Given the description of an element on the screen output the (x, y) to click on. 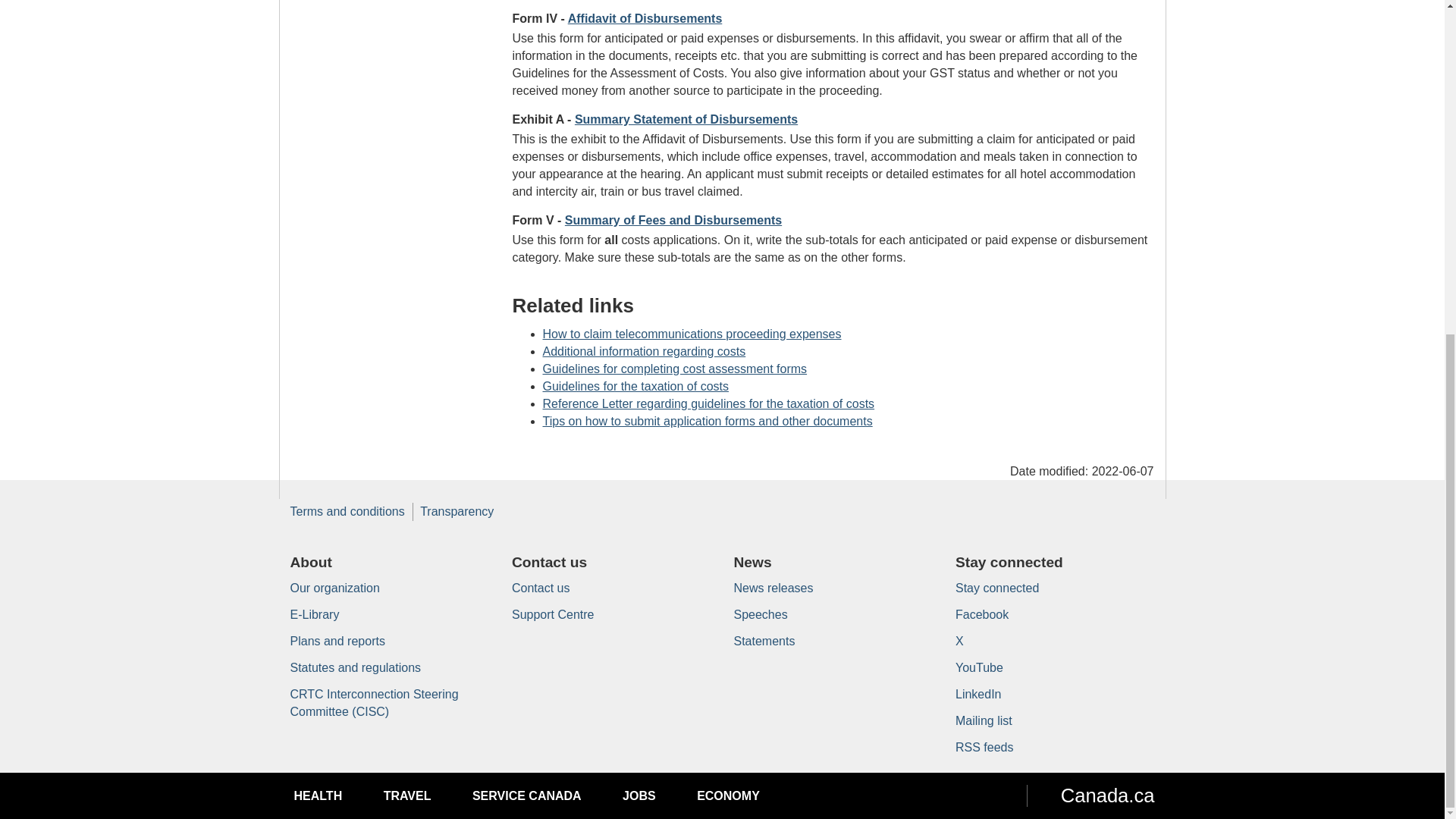
Tips on how to submit application forms and other documents (707, 420)
Terms and conditions (346, 511)
Transparency (456, 511)
Additional information regarding costs (644, 350)
Summary of Fees and Disbursements (672, 219)
Guidelines for the taxation of costs (636, 386)
Plans and reports (336, 640)
How to claim telecommunications proceeding expenses (692, 333)
Our organization (333, 587)
